Given the description of an element on the screen output the (x, y) to click on. 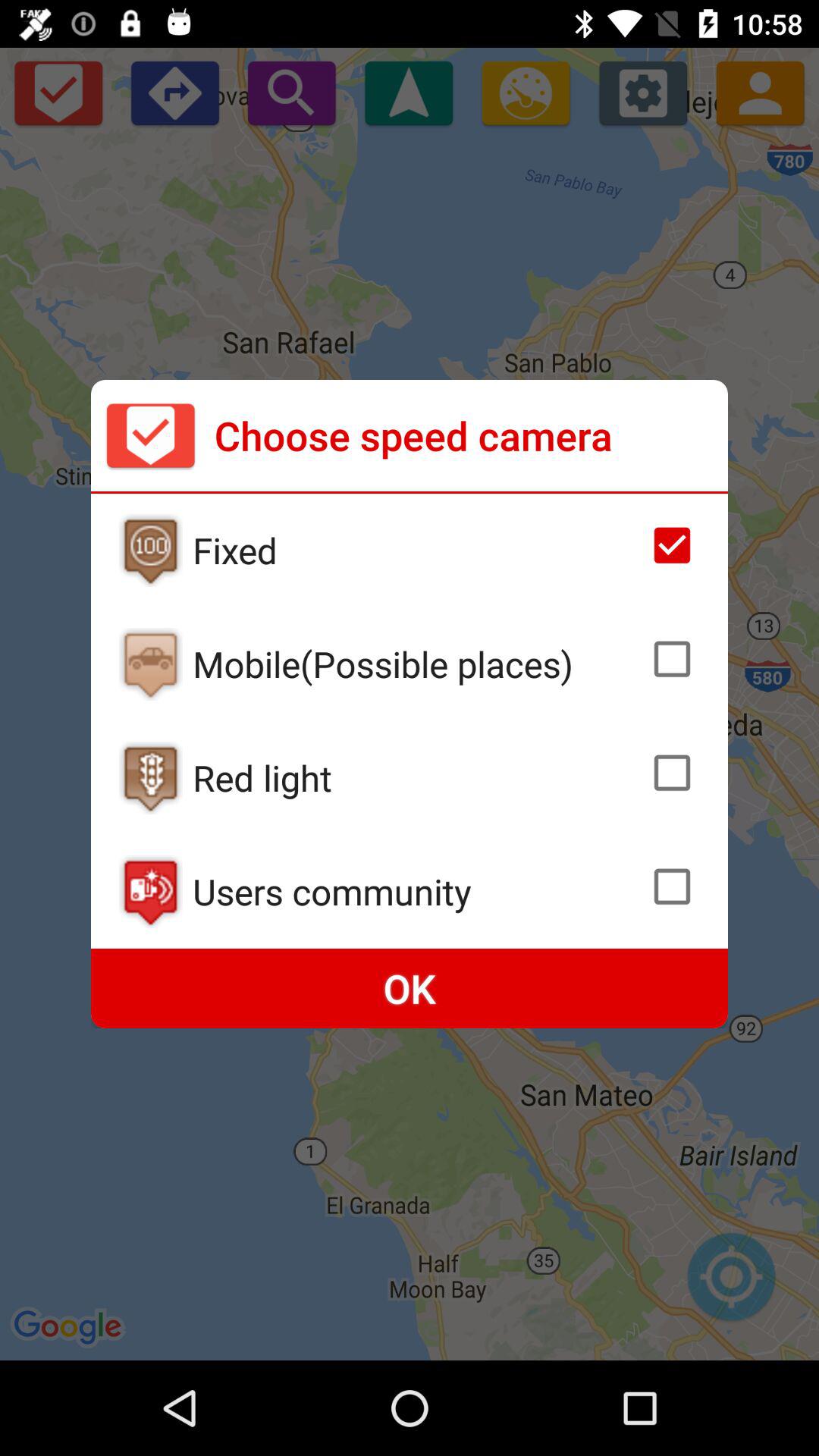
click check box (672, 659)
